Given the description of an element on the screen output the (x, y) to click on. 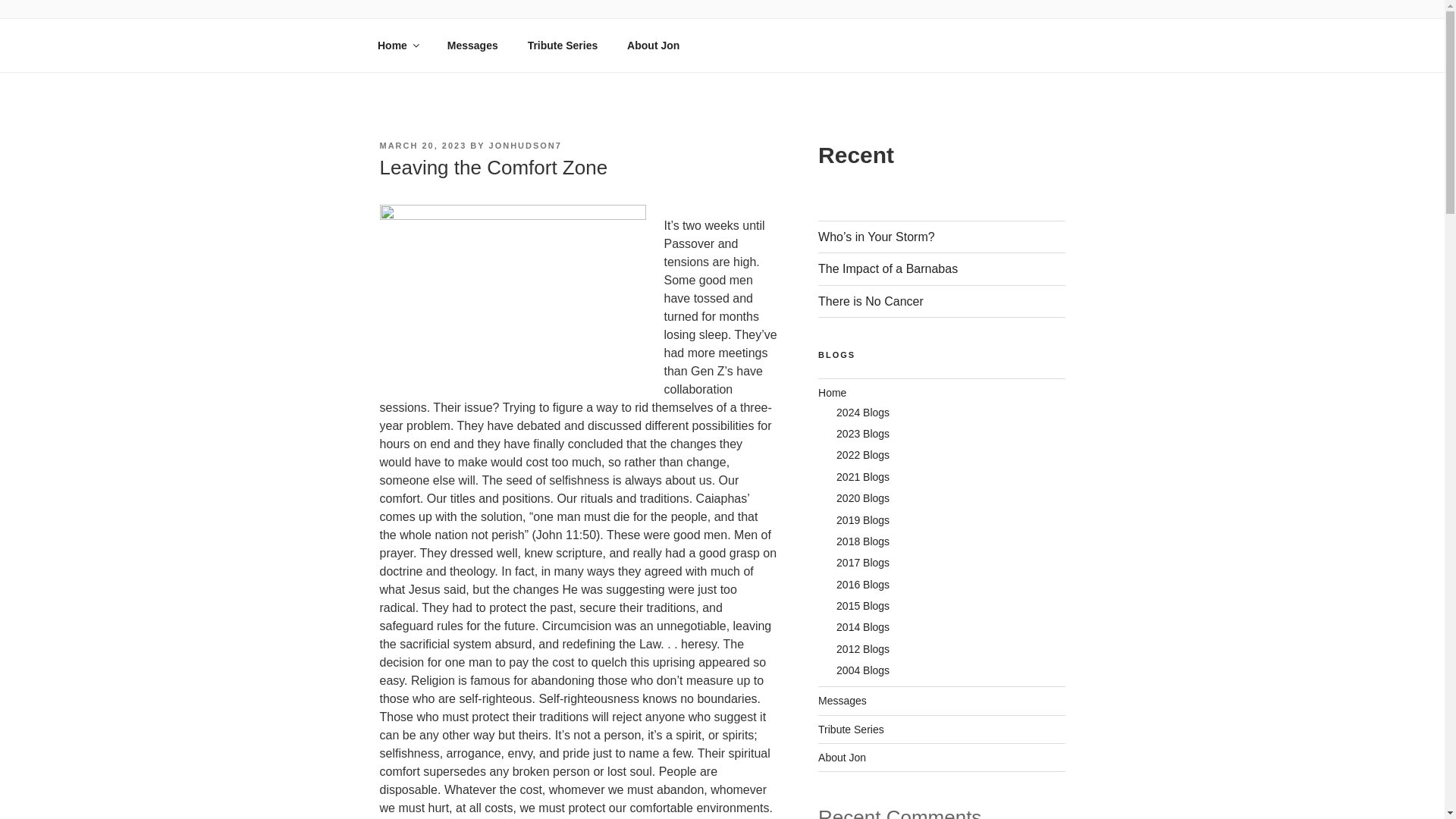
MARCH 20, 2023 (421, 144)
Home (397, 45)
JONHUDSON7 (525, 144)
Messages (472, 45)
About Jon (653, 45)
Tribute Series (562, 45)
